Given the description of an element on the screen output the (x, y) to click on. 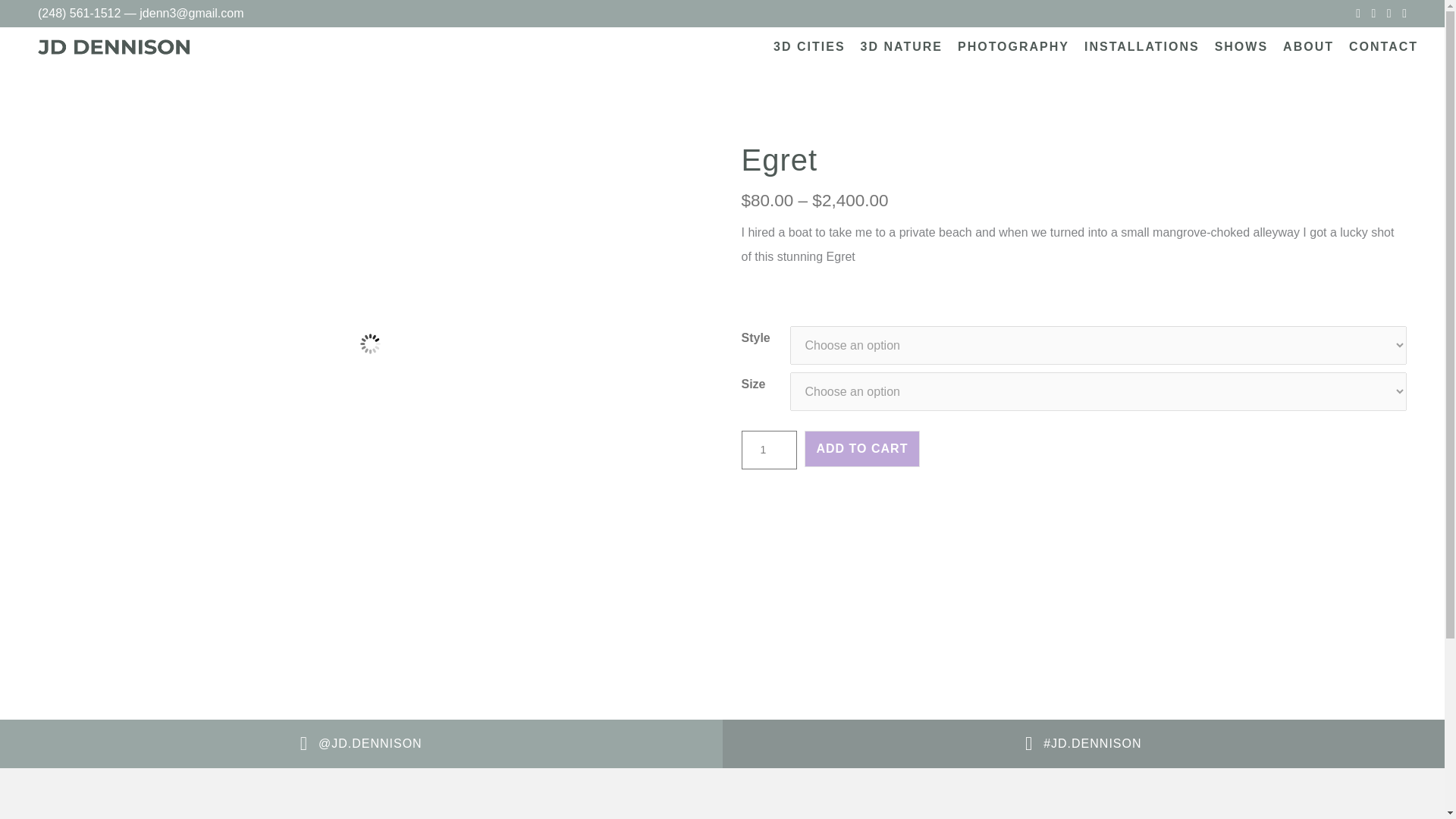
3D NATURE (901, 46)
ABOUT (1307, 46)
SHOWS (1241, 46)
PHOTOGRAPHY (1013, 46)
CONTACT (1382, 46)
3D CITIES (808, 46)
INSTALLATIONS (1142, 46)
Logo (113, 47)
1 (768, 450)
